Given the description of an element on the screen output the (x, y) to click on. 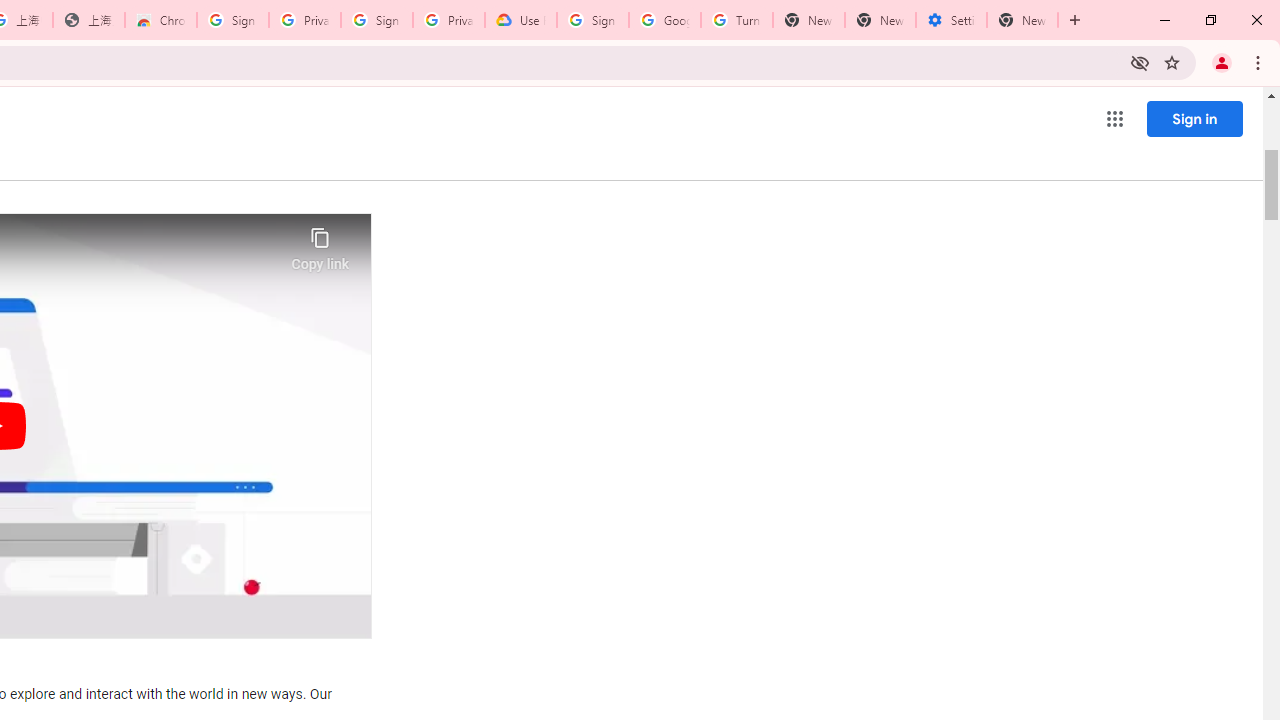
Sign in - Google Accounts (592, 20)
Copy link (319, 244)
Turn cookies on or off - Computer - Google Account Help (737, 20)
Sign in - Google Accounts (232, 20)
